Given the description of an element on the screen output the (x, y) to click on. 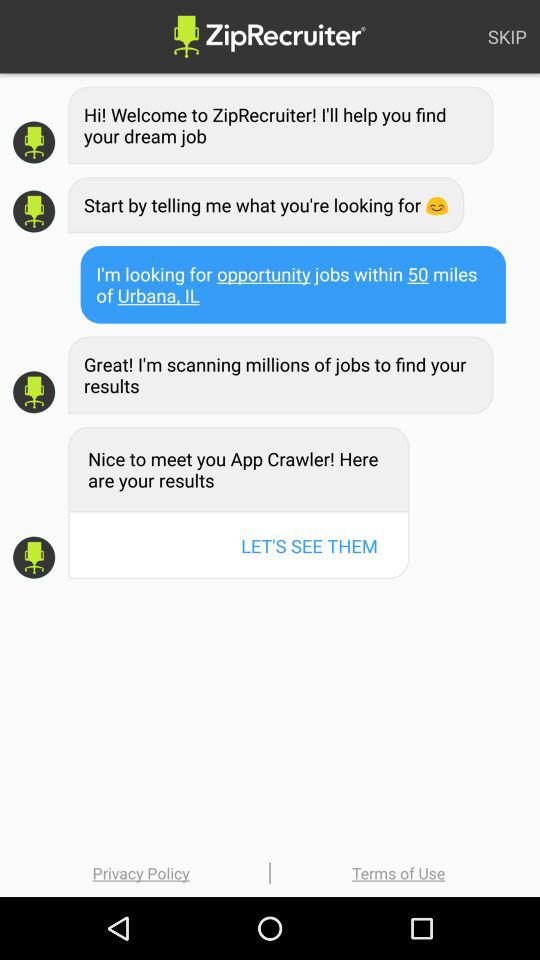
tap the icon below the let s see icon (398, 872)
